Given the description of an element on the screen output the (x, y) to click on. 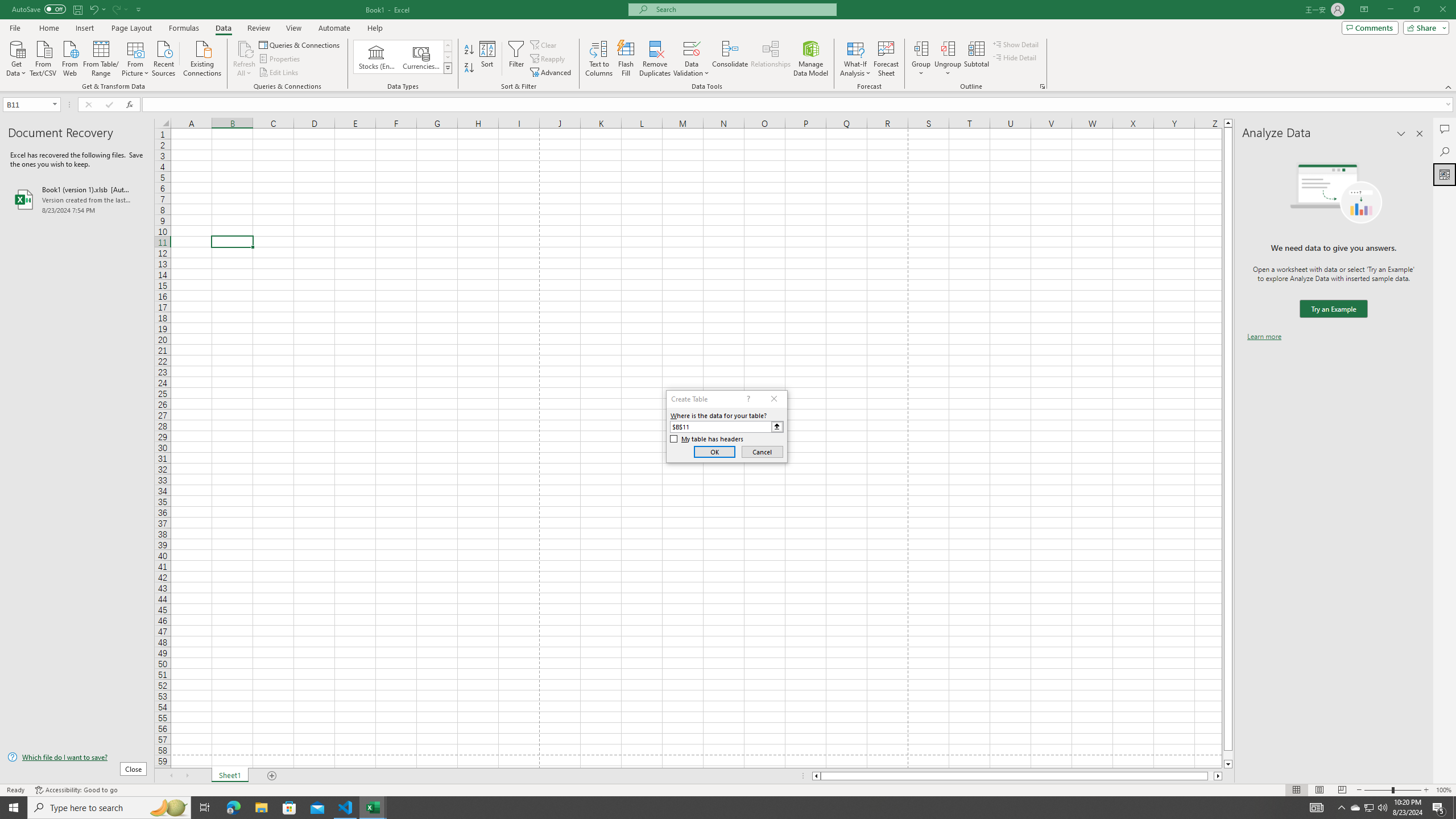
Get Data (16, 57)
Reapply (548, 58)
Properties (280, 58)
Advanced... (551, 72)
